Given the description of an element on the screen output the (x, y) to click on. 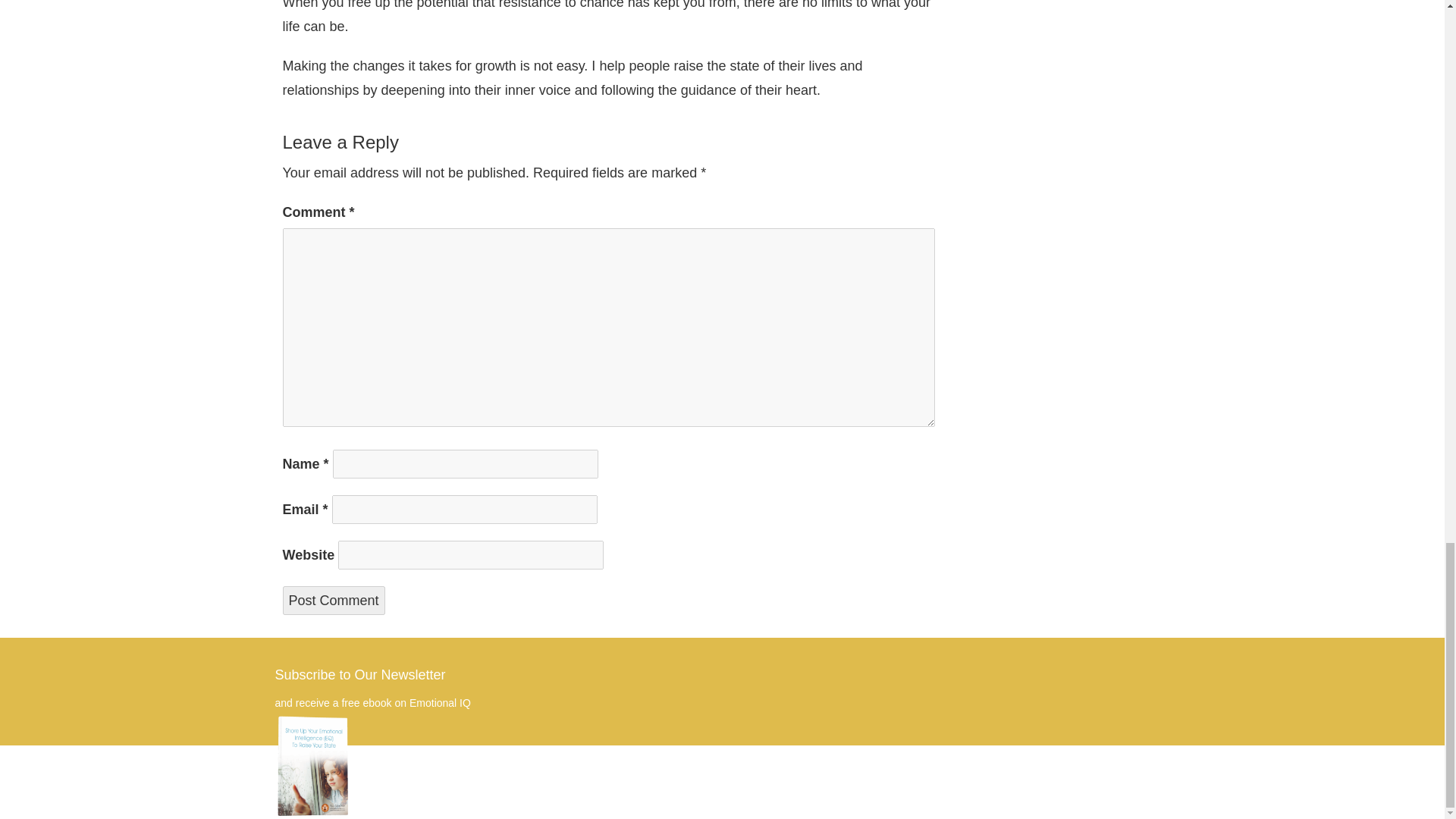
Post Comment (333, 600)
Post Comment (333, 600)
